Given the description of an element on the screen output the (x, y) to click on. 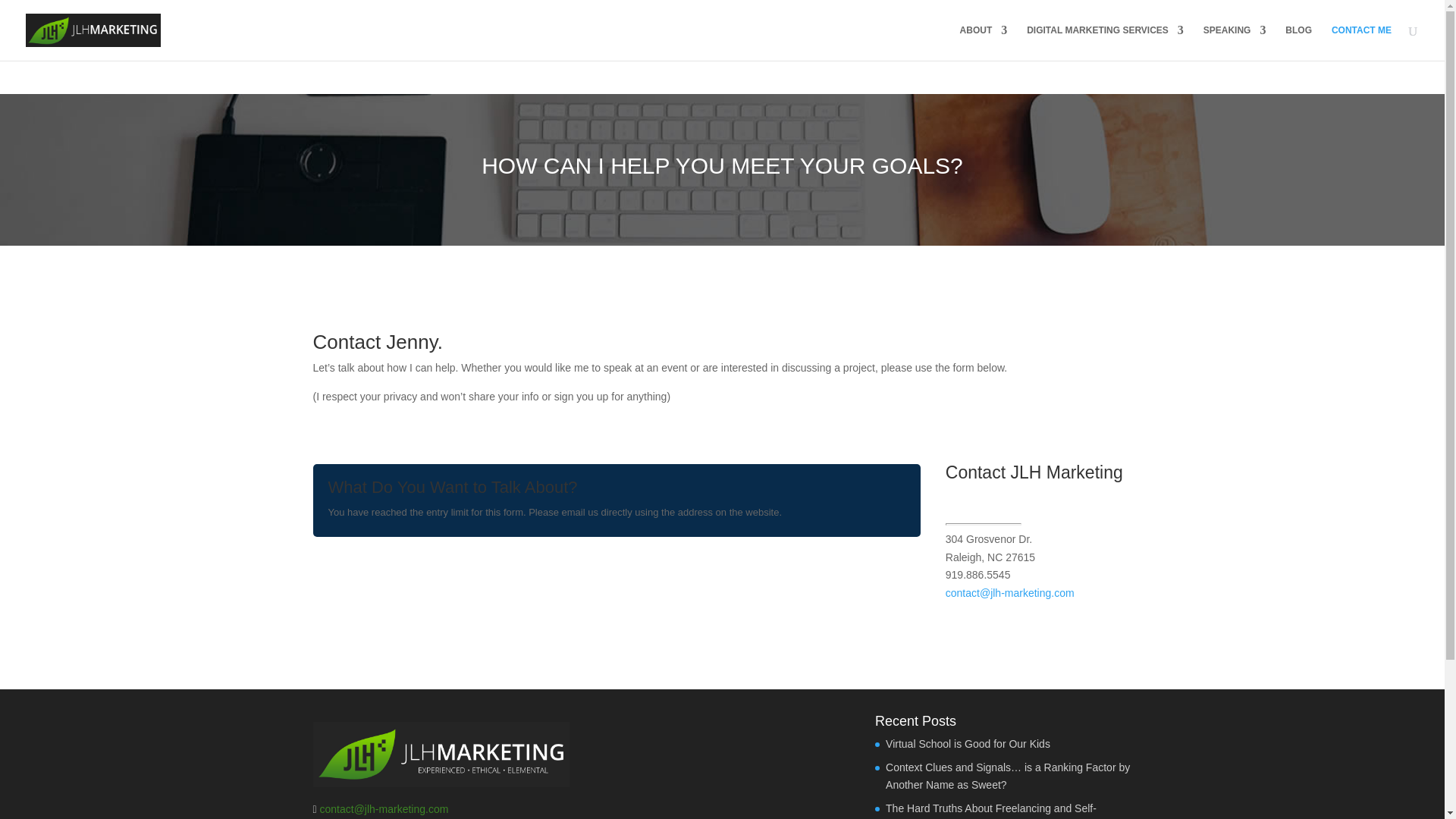
ABOUT (983, 42)
Virtual School is Good for Our Kids (967, 743)
SPEAKING (1235, 42)
DIGITAL MARKETING SERVICES (1104, 42)
BLOG (1298, 42)
The Hard Truths About Freelancing and Self-Employment (990, 810)
CONTACT ME (1361, 42)
